Given the description of an element on the screen output the (x, y) to click on. 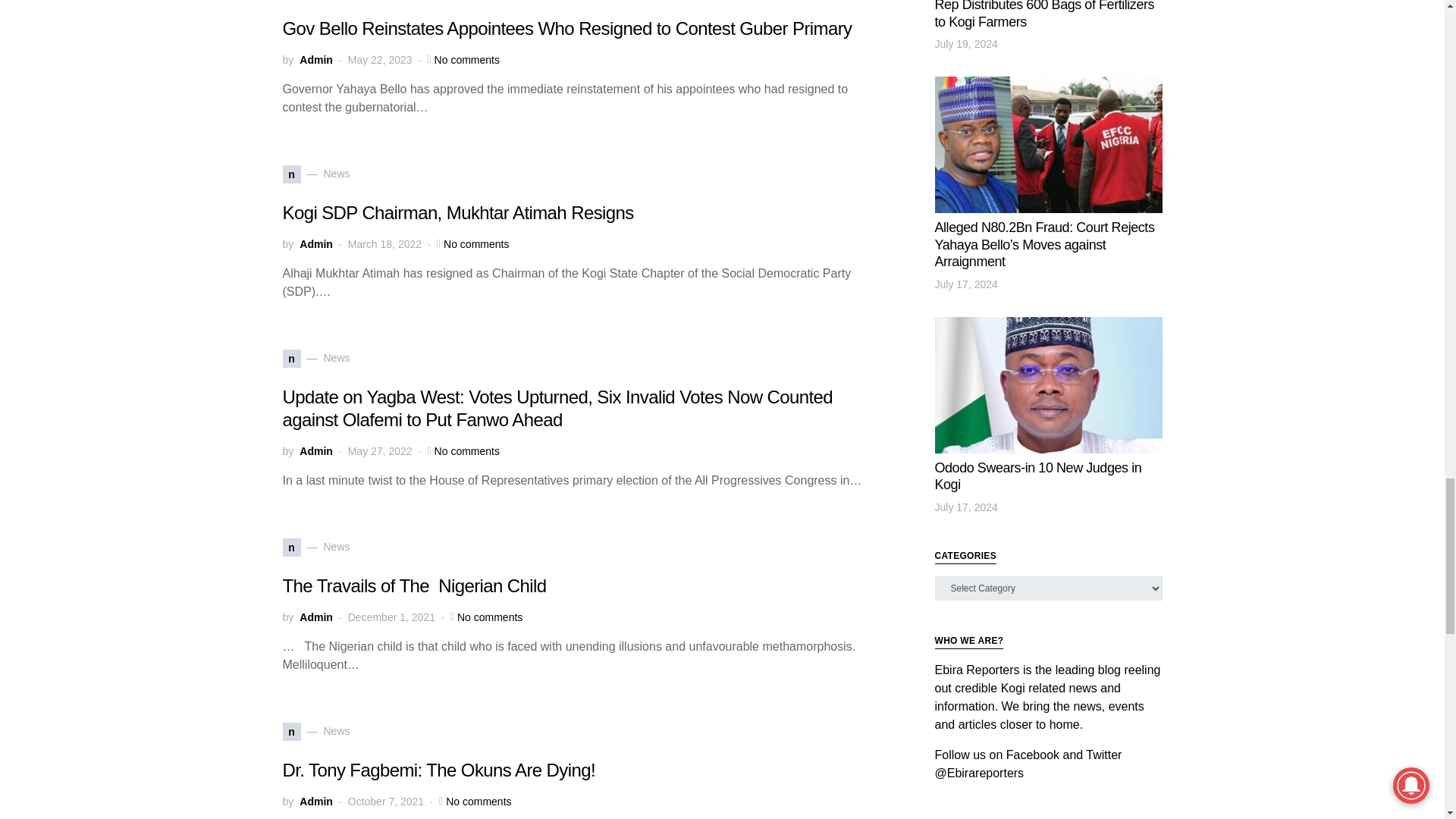
View all posts by Admin (316, 59)
View all posts by Admin (316, 244)
